Given the description of an element on the screen output the (x, y) to click on. 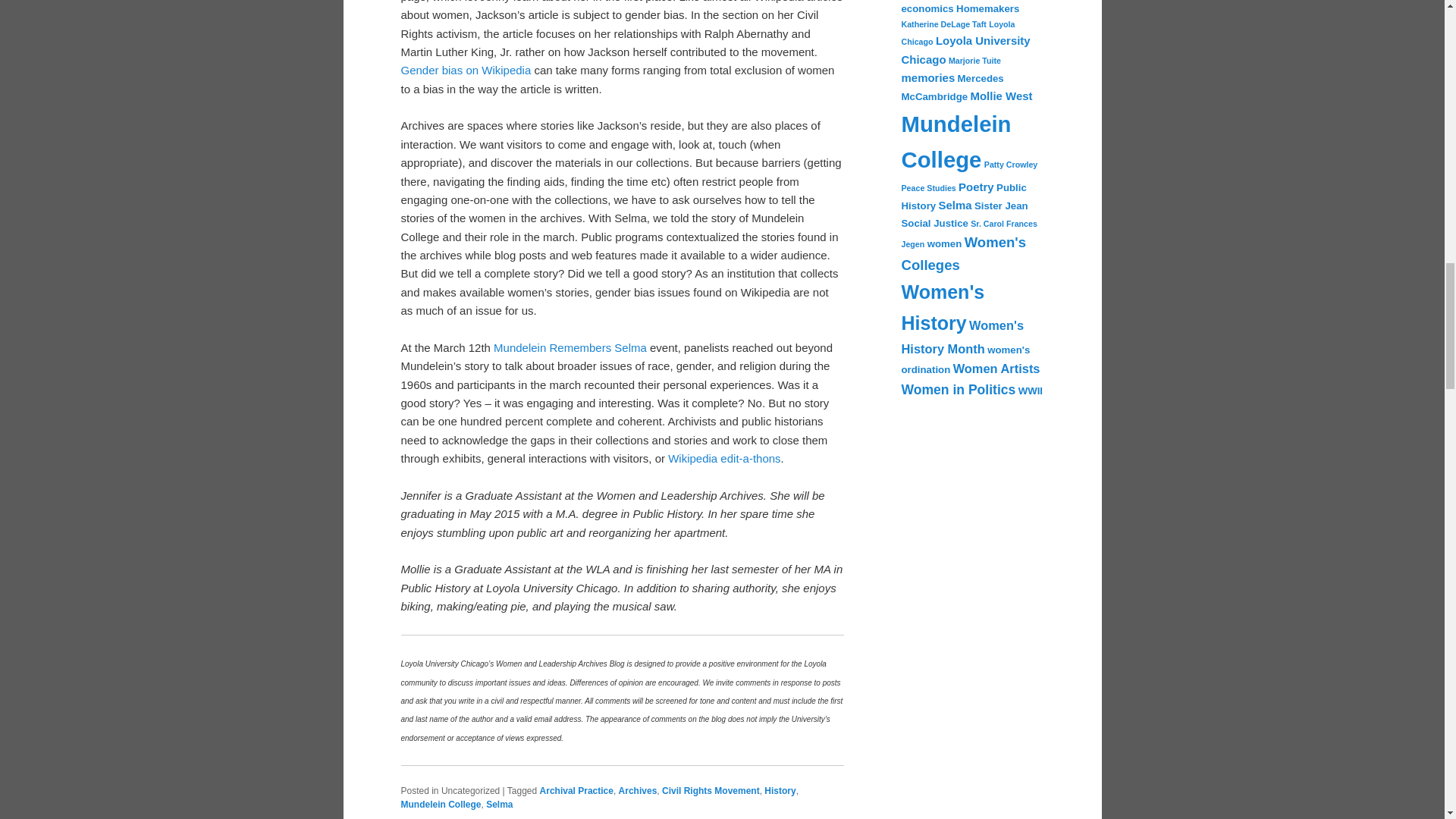
Mundelein Remembers Selma (569, 347)
Archives (638, 790)
Wikipedia edit-a-thons (724, 458)
Mundelein College (440, 804)
History (779, 790)
Gender bias on Wikipedia (465, 69)
Selma (499, 804)
Civil Rights Movement (711, 790)
Archival Practice (576, 790)
